Given the description of an element on the screen output the (x, y) to click on. 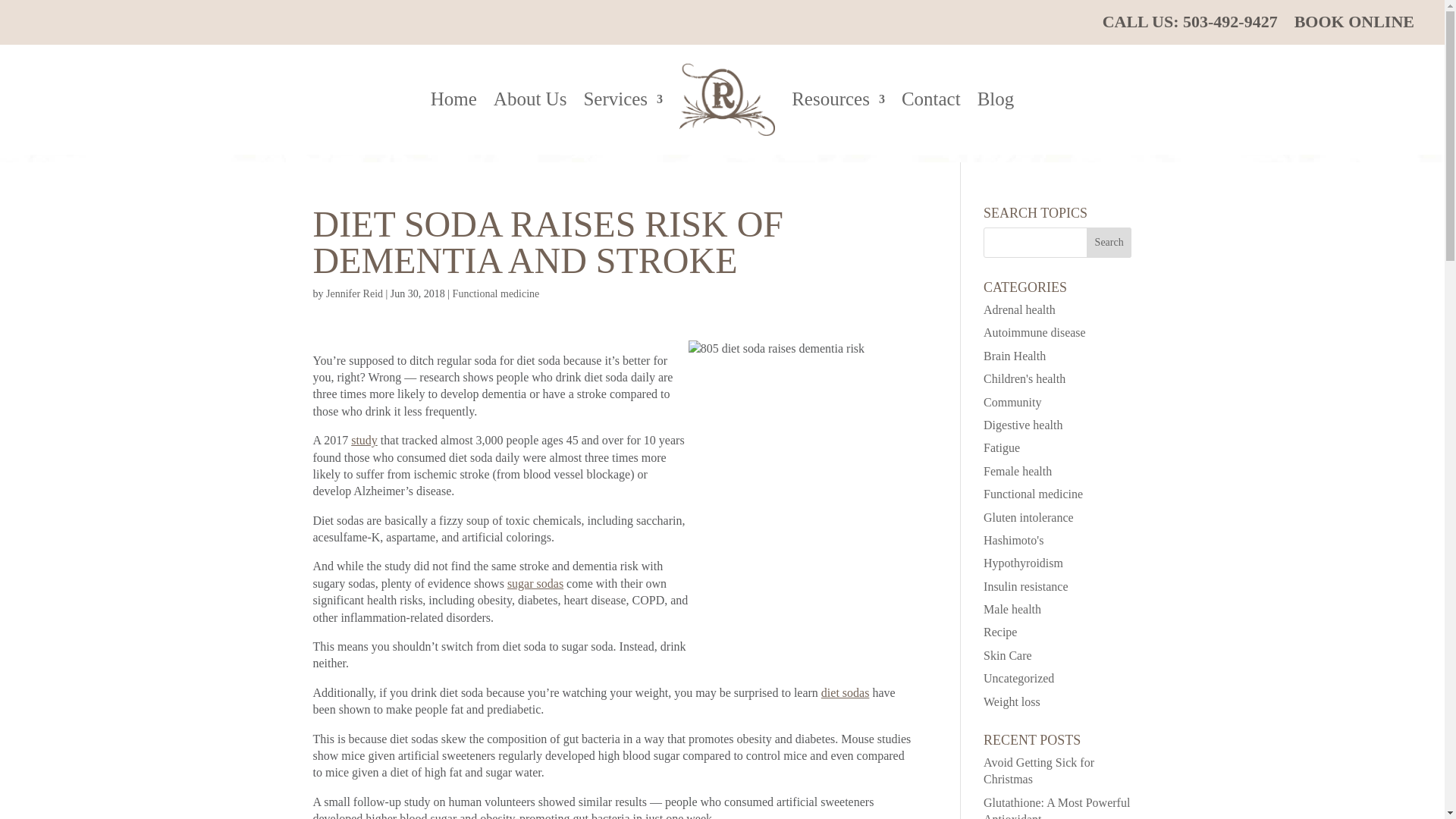
Functional medicine (496, 293)
Resources (838, 99)
Contact (930, 99)
Children's health (1024, 378)
805 diet soda raises dementia risk.jpg (801, 491)
Fatigue (1002, 447)
Search (1109, 242)
Jennifer Reid (354, 293)
BOOK ONLINE (1353, 24)
Female health (1017, 471)
CALL US: 503-492-9427 (1190, 24)
Autoimmune disease (1035, 332)
Posts by Jennifer Reid (354, 293)
Digestive health (1023, 424)
Brain Health (1014, 355)
